Given the description of an element on the screen output the (x, y) to click on. 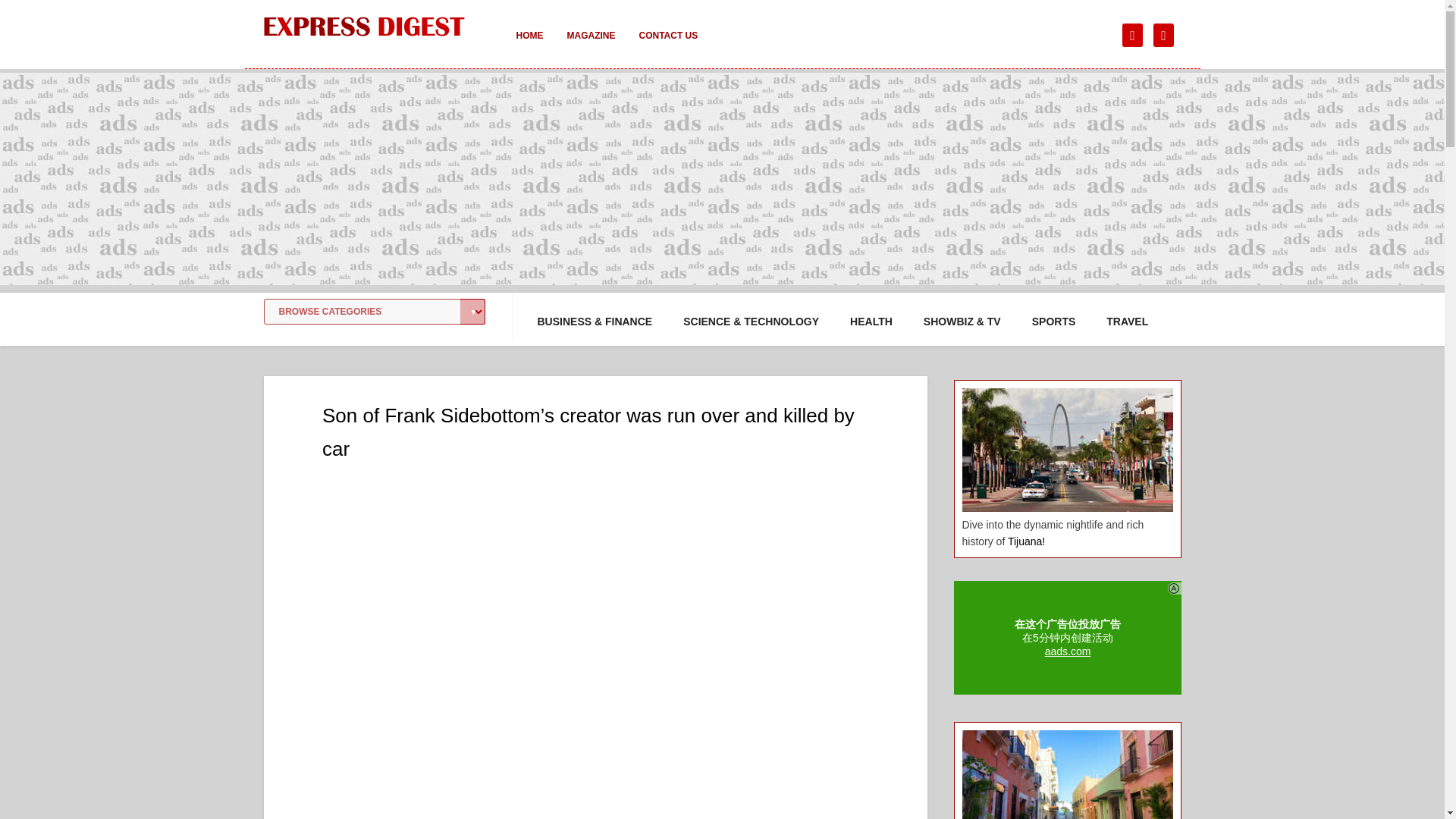
Tijuana! (1026, 541)
HEALTH (871, 321)
MAGAZINE (590, 45)
TRAVEL (1127, 321)
SPORTS (1053, 321)
CONTACT US (667, 45)
